Given the description of an element on the screen output the (x, y) to click on. 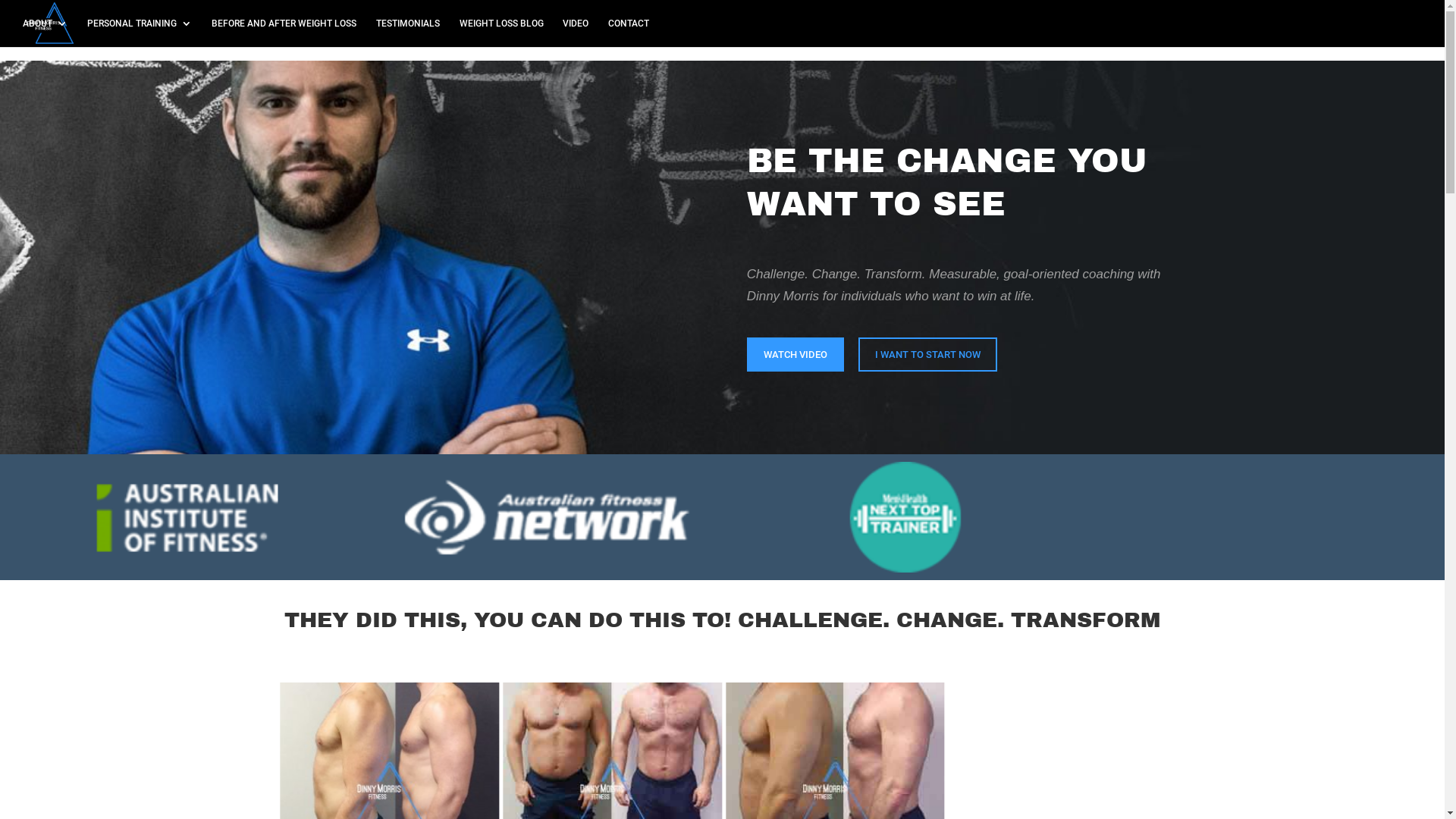
PERSONAL TRAINING Element type: text (139, 32)
WEIGHT LOSS BLOG Element type: text (501, 32)
TESTIMONIALS Element type: text (407, 32)
WATCH VIDEO Element type: text (795, 354)
VIDEO Element type: text (575, 32)
ABOUT Element type: text (44, 32)
BEFORE AND AFTER WEIGHT LOSS Element type: text (283, 32)
CONTACT Element type: text (628, 32)
I WANT TO START NOW Element type: text (927, 354)
